Given the description of an element on the screen output the (x, y) to click on. 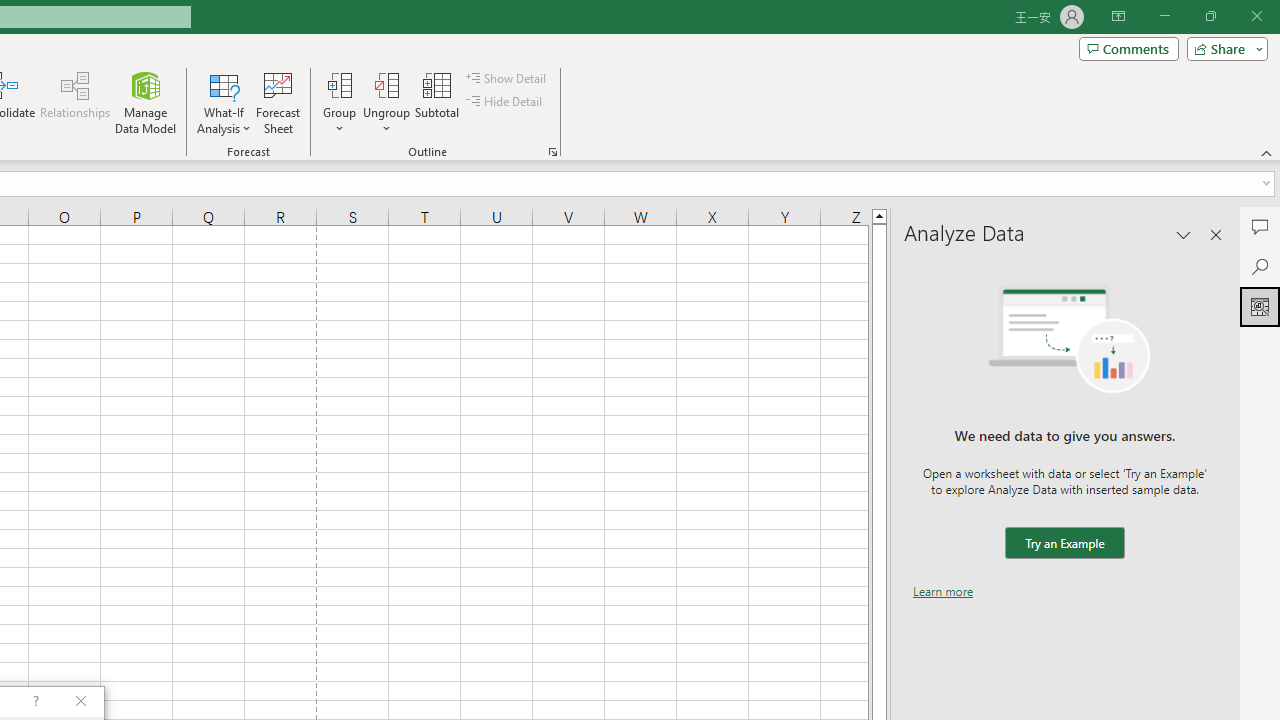
Hide Detail (505, 101)
Subtotal (437, 102)
Show Detail (507, 78)
Group and Outline Settings (552, 151)
What-If Analysis (223, 102)
